Given the description of an element on the screen output the (x, y) to click on. 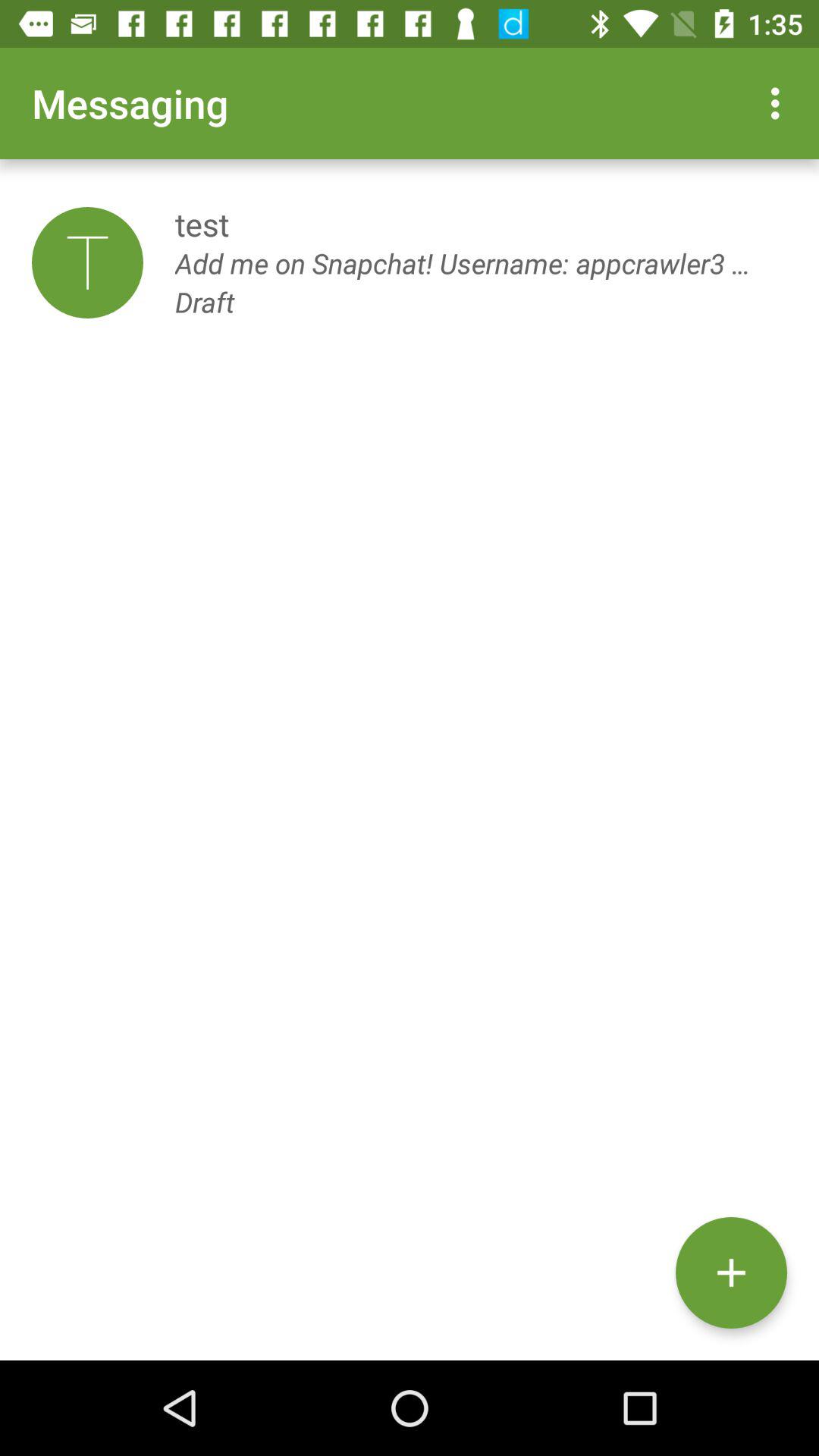
turn off icon next to messaging app (779, 103)
